Given the description of an element on the screen output the (x, y) to click on. 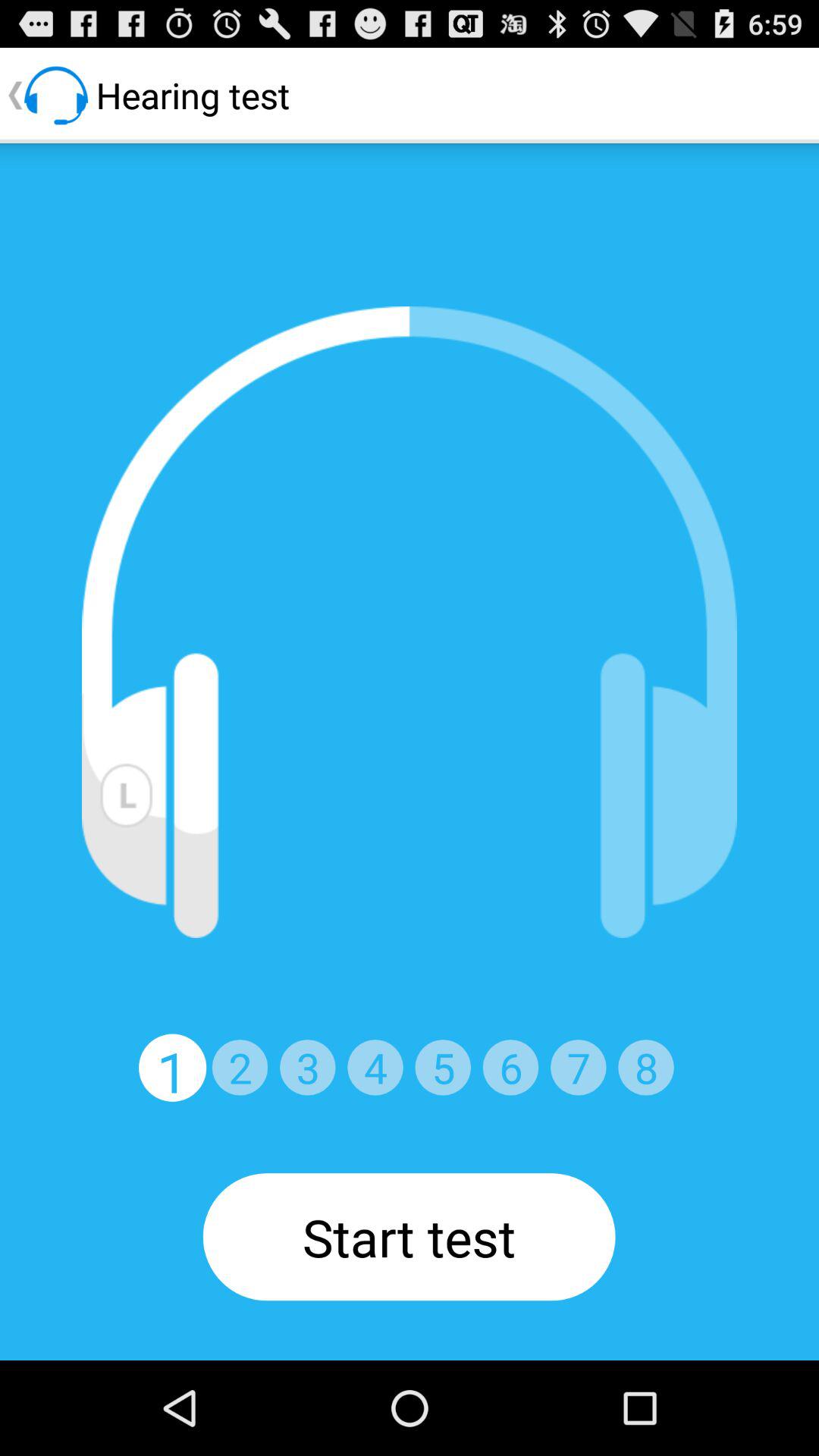
jump until the start test button (409, 1236)
